Given the description of an element on the screen output the (x, y) to click on. 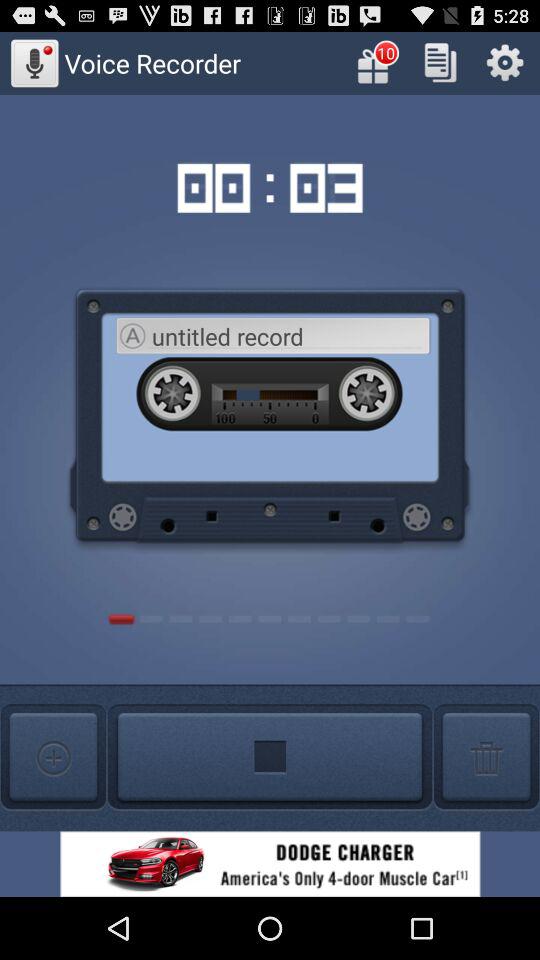
stop recording (269, 757)
